Given the description of an element on the screen output the (x, y) to click on. 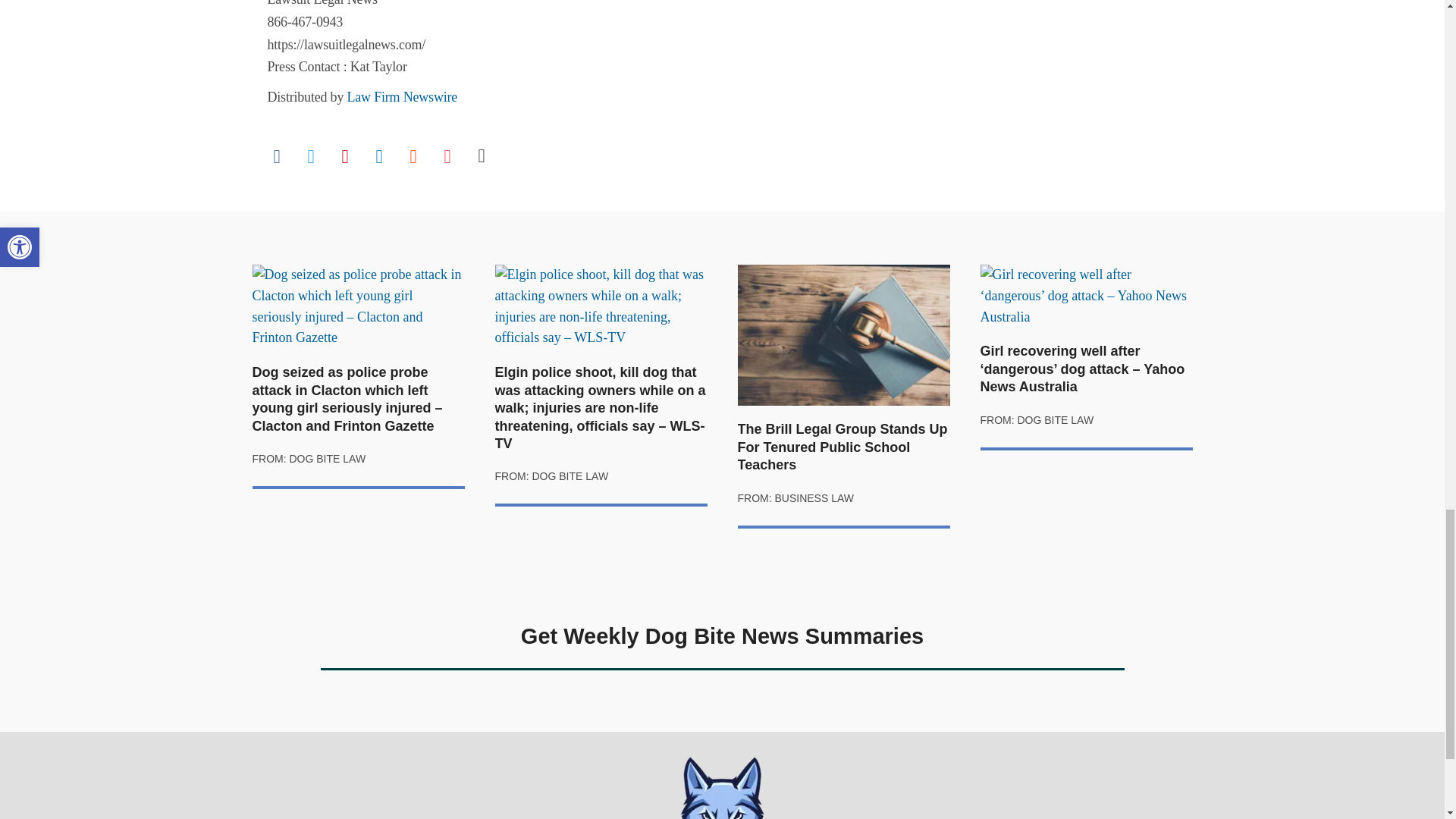
Law Firm Newswire (402, 96)
